Given the description of an element on the screen output the (x, y) to click on. 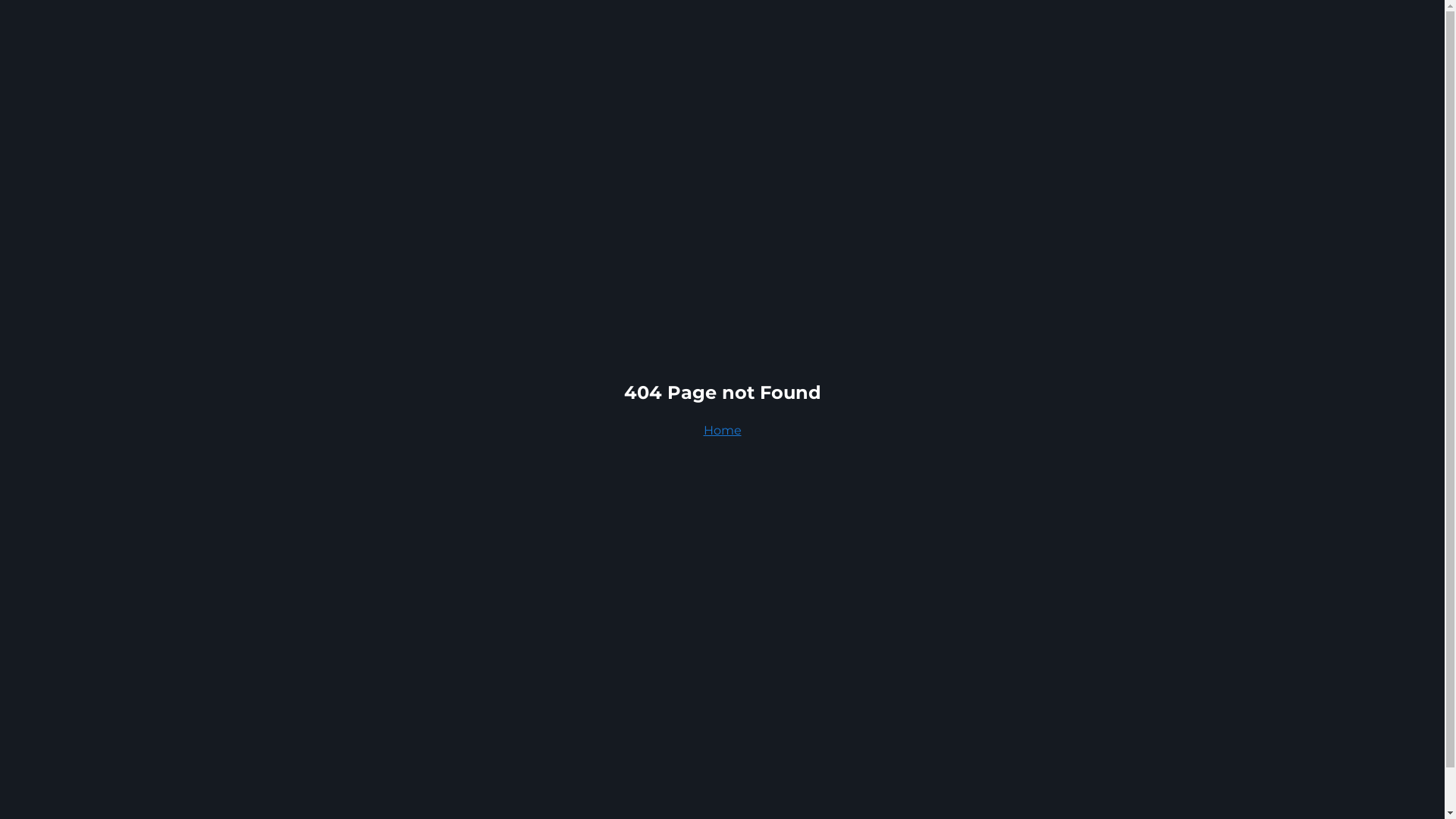
Home Element type: text (722, 430)
